Given the description of an element on the screen output the (x, y) to click on. 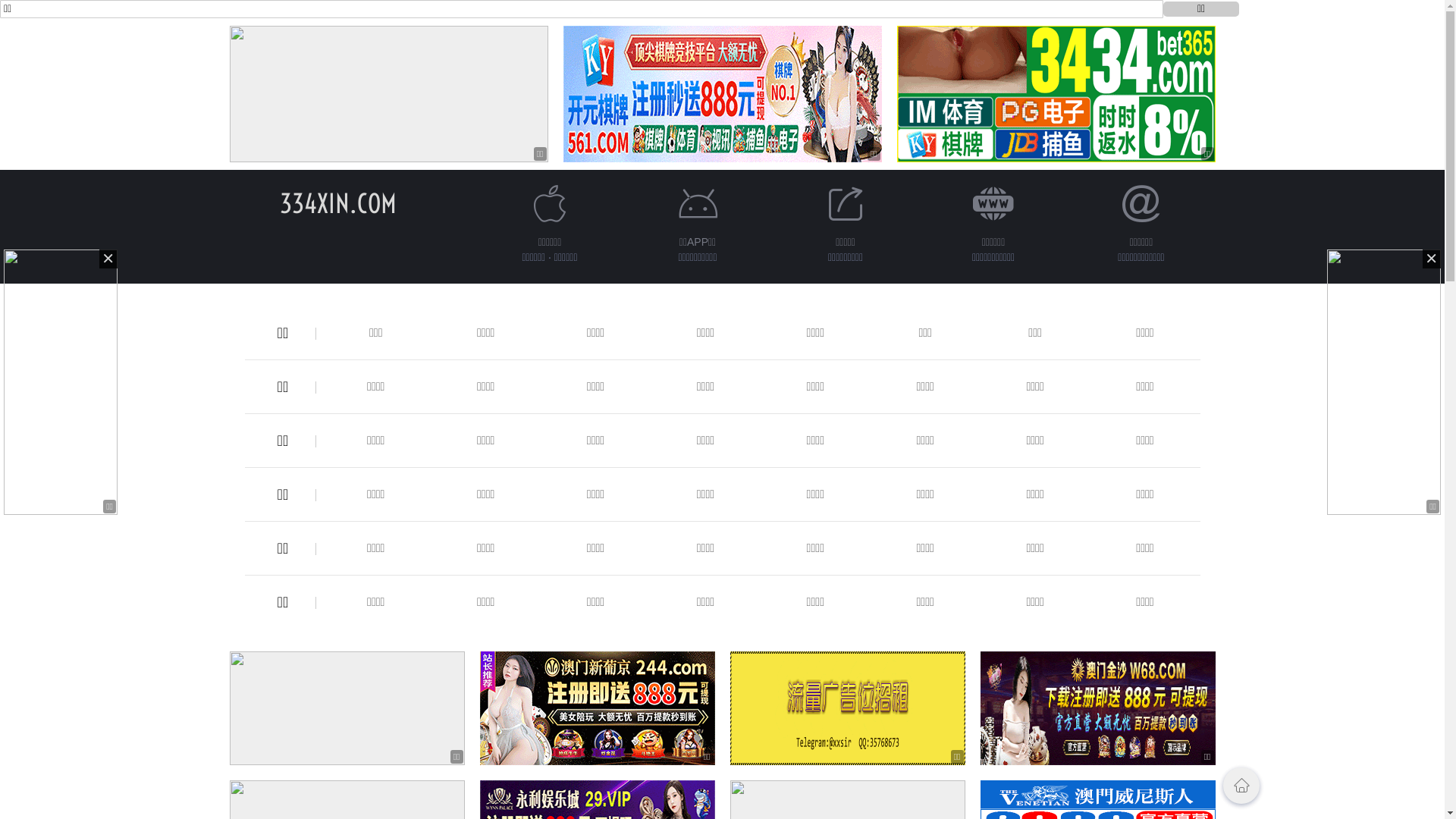
334XIN.COM Element type: text (337, 203)
